Given the description of an element on the screen output the (x, y) to click on. 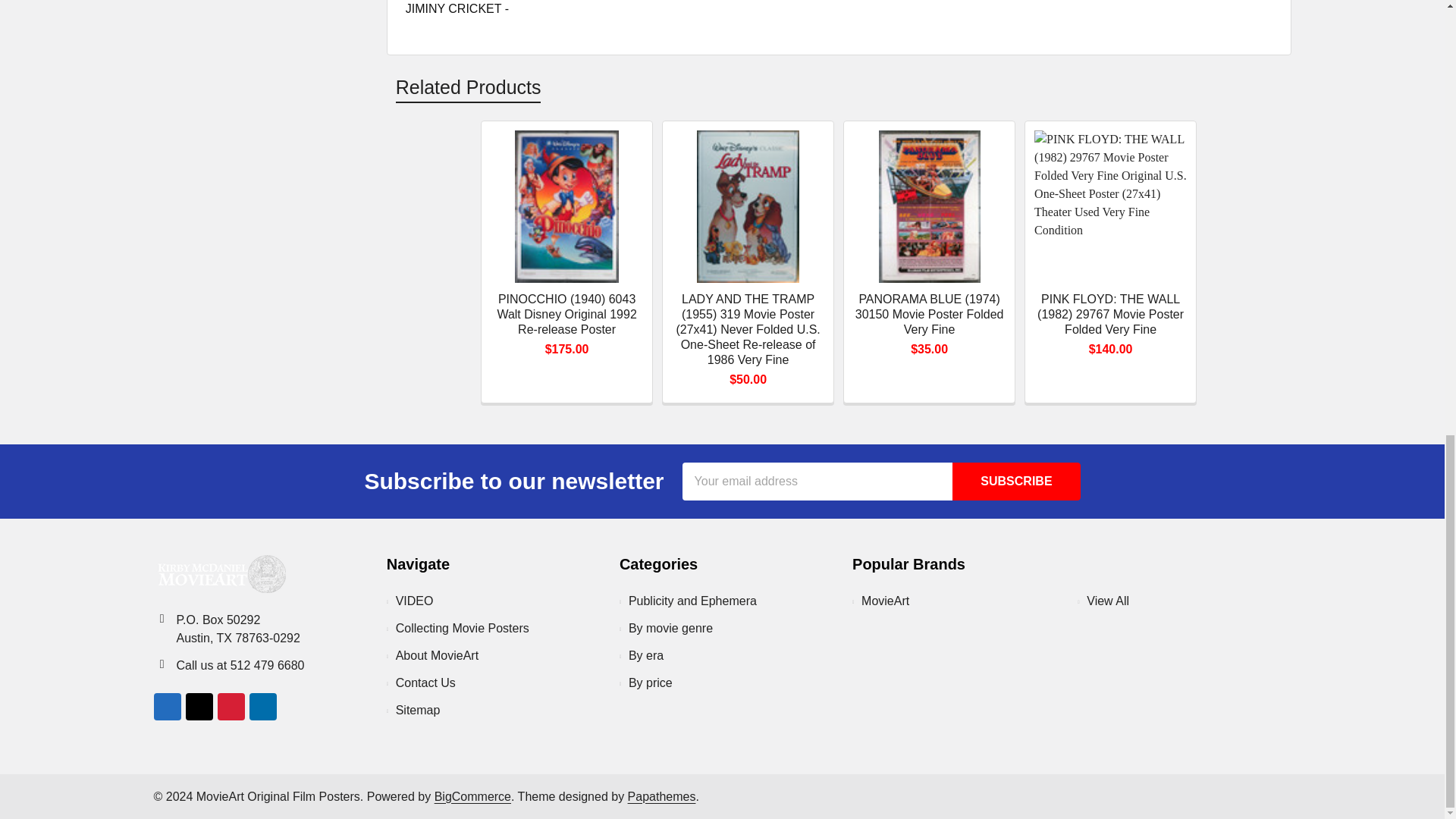
X (198, 706)
Subscribe (1016, 481)
Kirby McDaniel MovieArt (218, 573)
Facebook (166, 706)
